Given the description of an element on the screen output the (x, y) to click on. 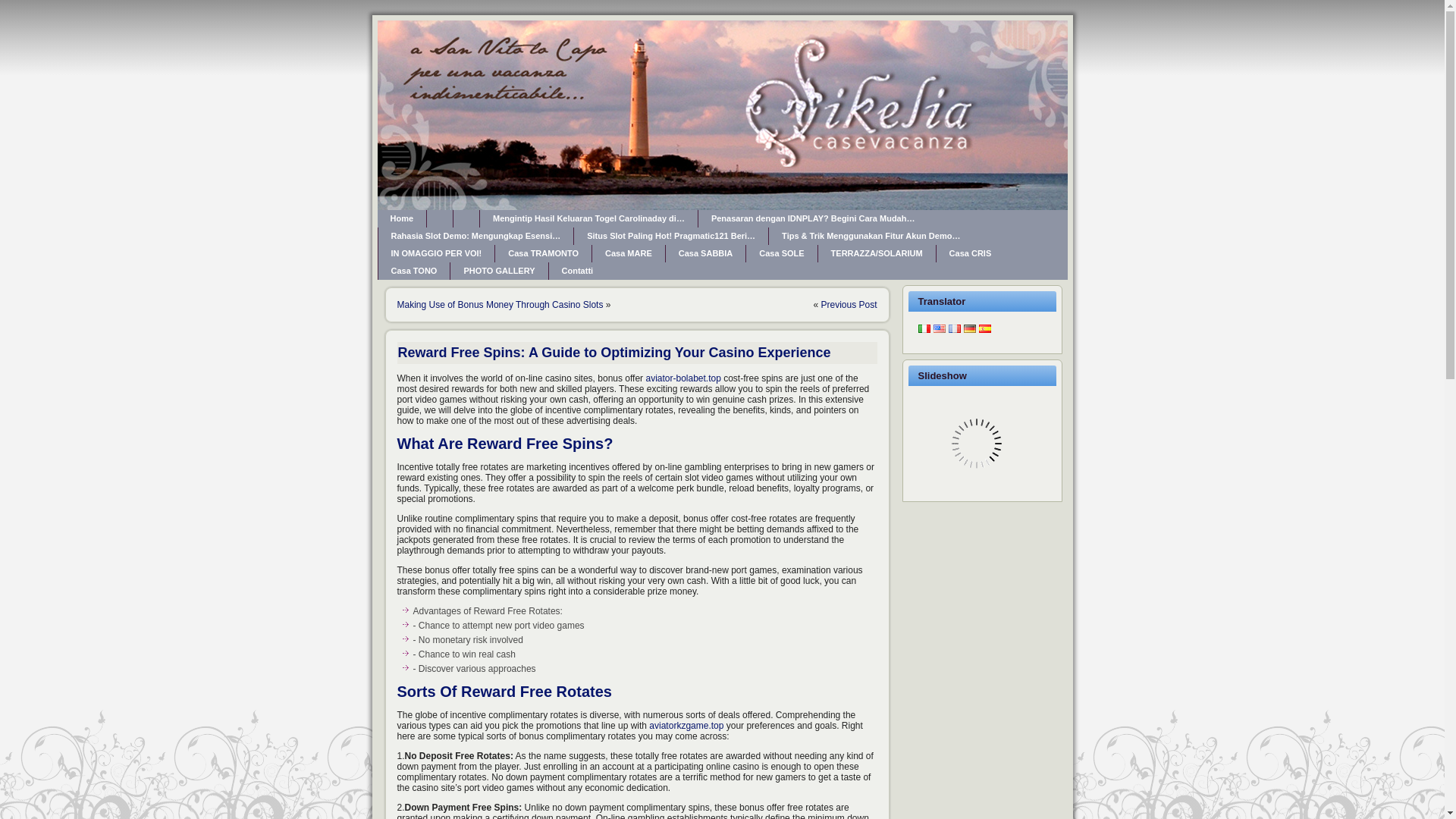
aviator-bolabet.top (682, 378)
Home (401, 218)
Casa CRIS (970, 253)
Home (401, 218)
IN OMAGGIO PER VOI! (436, 253)
Casa TONO (413, 271)
Casa SOLE (780, 253)
Casa TRAMONTO (543, 253)
Contatti (577, 271)
PHOTO GALLERY (498, 271)
aviatorkzgame.top (686, 725)
Casa TRAMONTO (543, 253)
